Given the description of an element on the screen output the (x, y) to click on. 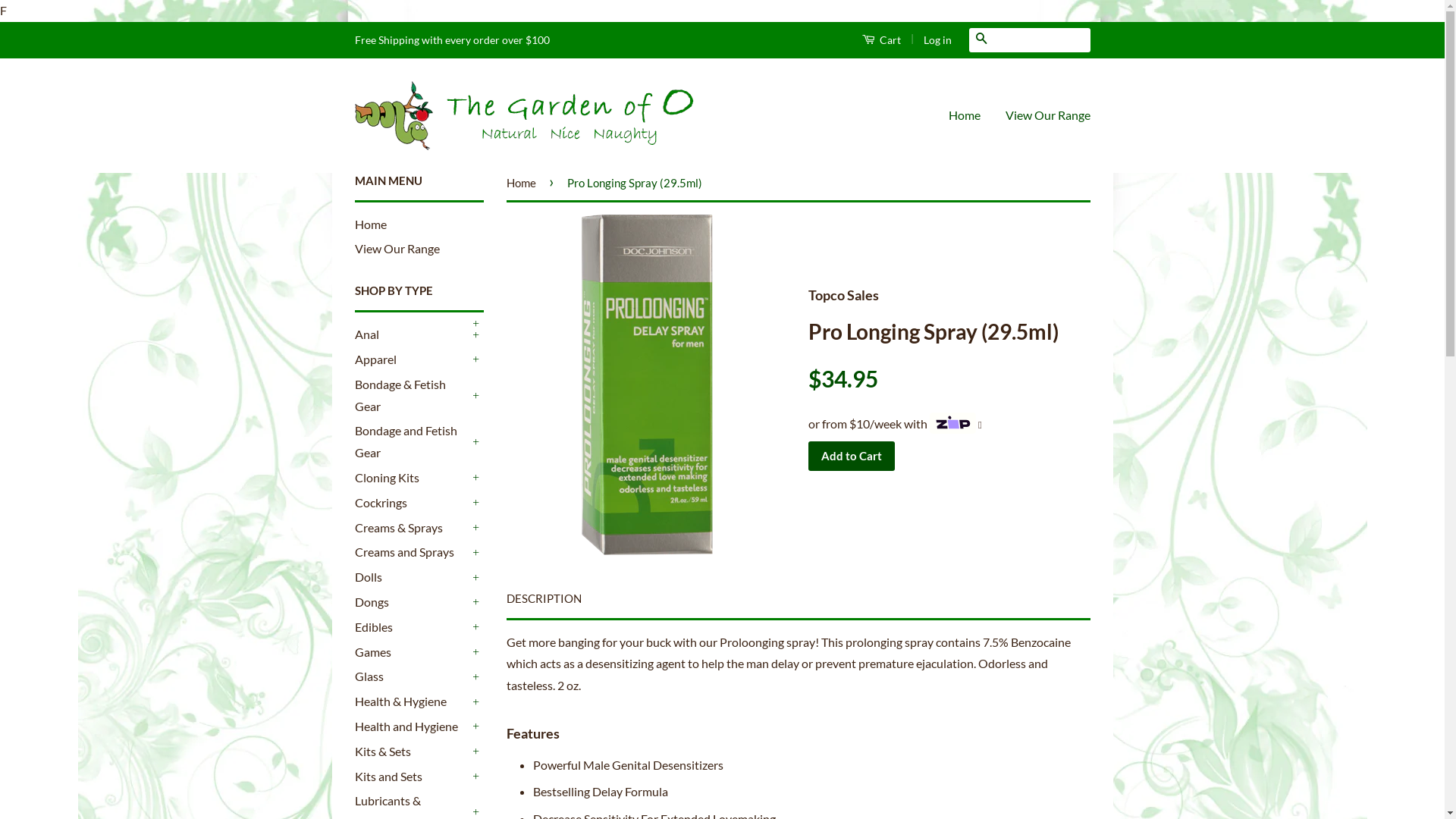
Search Element type: text (981, 37)
+ Element type: text (475, 477)
Glass Element type: text (411, 676)
+ Element type: text (475, 359)
+ Element type: text (475, 441)
Edibles Element type: text (411, 627)
Home Element type: text (969, 115)
View Our Range Element type: text (396, 248)
+ Element type: text (475, 726)
+ Element type: text (475, 676)
+ Element type: text (475, 701)
+ Element type: text (475, 323)
+ Element type: text (475, 527)
Home Element type: text (523, 182)
Cockrings Element type: text (411, 503)
Home Element type: text (370, 223)
Dolls Element type: text (411, 577)
Games Element type: text (411, 652)
Log in Element type: text (937, 39)
+ Element type: text (475, 651)
+ Element type: text (475, 751)
+ Element type: text (475, 577)
View Our Range Element type: text (1041, 115)
+ Element type: text (475, 552)
+ Element type: text (475, 626)
Bondage & Fetish Gear Element type: text (411, 395)
Apparel Element type: text (411, 359)
Kits & Sets Element type: text (411, 751)
DESCRIPTION Element type: text (543, 598)
Creams & Sprays Element type: text (411, 528)
Cart Element type: text (880, 39)
Add to Cart Element type: text (851, 455)
Kits and Sets Element type: text (411, 776)
Health & Hygiene Element type: text (411, 701)
+ Element type: text (475, 502)
Creams and Sprays Element type: text (411, 552)
+ Element type: text (475, 395)
Health and Hygiene Element type: text (411, 726)
Anal Element type: text (411, 334)
+ Element type: text (475, 334)
Cloning Kits Element type: text (411, 478)
+ Element type: text (475, 601)
+ Element type: text (475, 776)
Bondage and Fetish Gear Element type: text (411, 442)
Dongs Element type: text (411, 602)
